Given the description of an element on the screen output the (x, y) to click on. 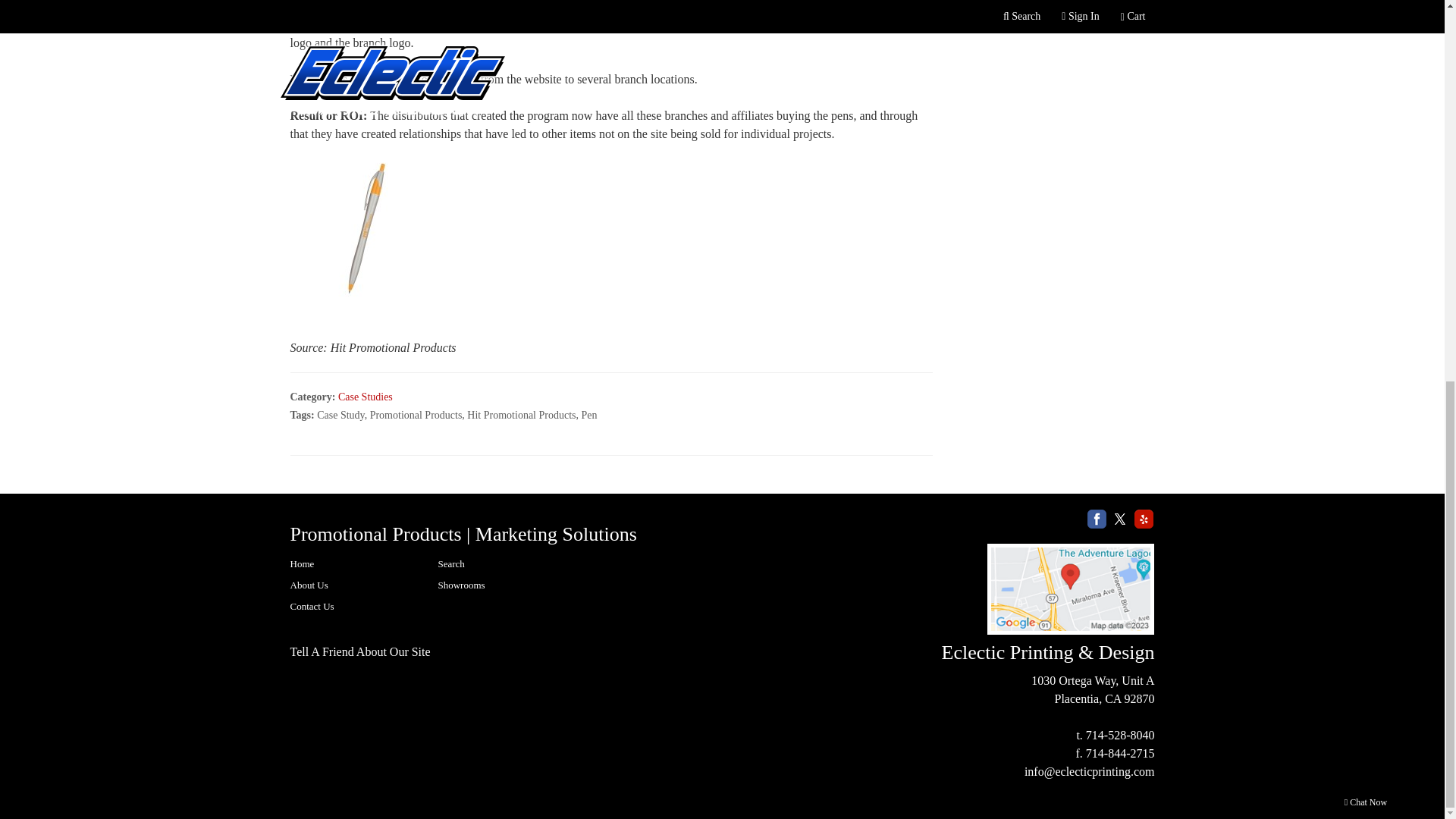
Visit us on Facebook (1096, 517)
Case Studies (365, 396)
Click for a larger map (1070, 588)
Chat Now (1365, 91)
Visit us on Yelp (1143, 517)
Visit us on Twitter (1119, 517)
